Given the description of an element on the screen output the (x, y) to click on. 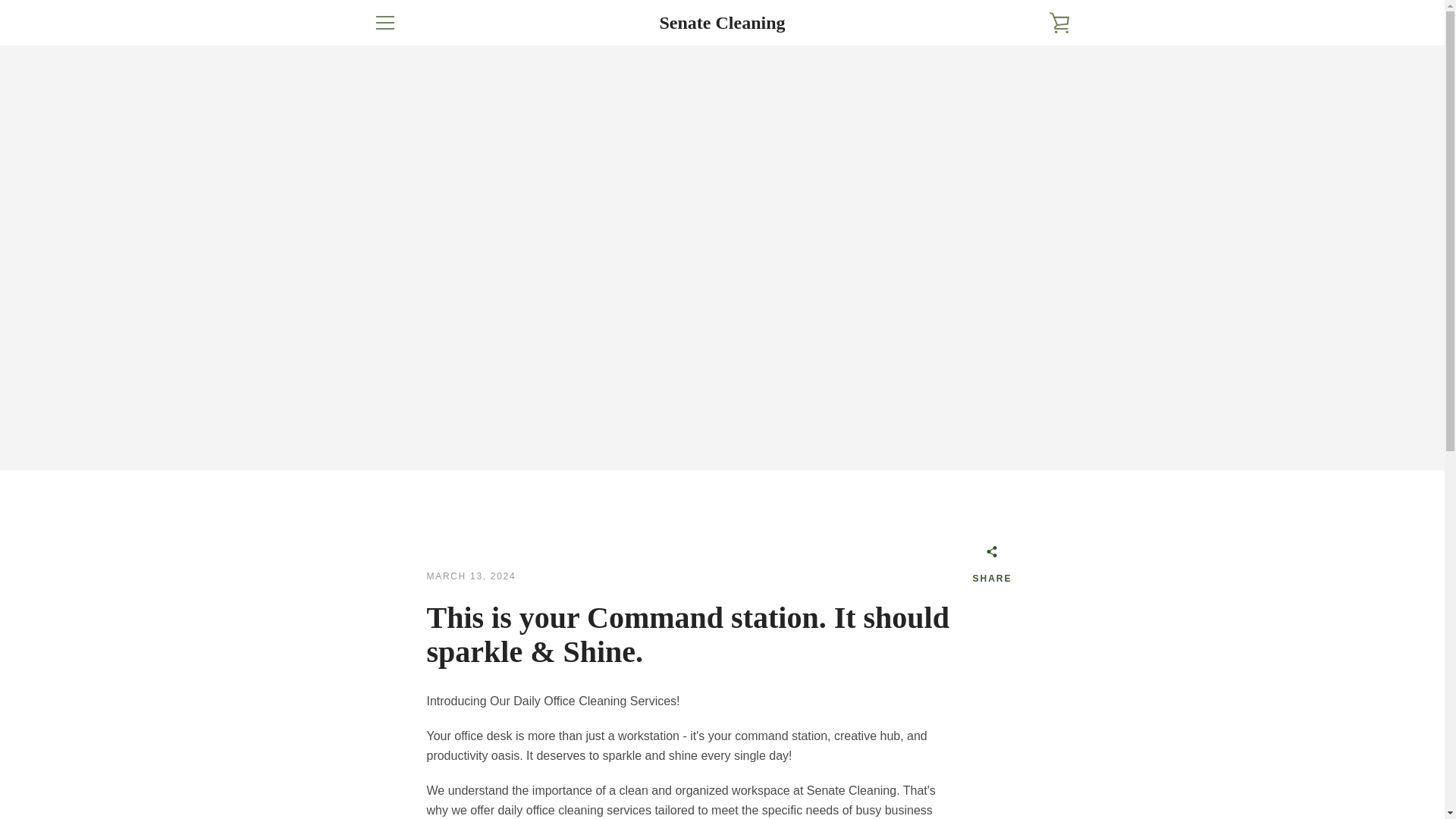
MENU (384, 22)
Senate Cleaning (721, 23)
VIEW CART (1059, 22)
SHARE (991, 567)
